Given the description of an element on the screen output the (x, y) to click on. 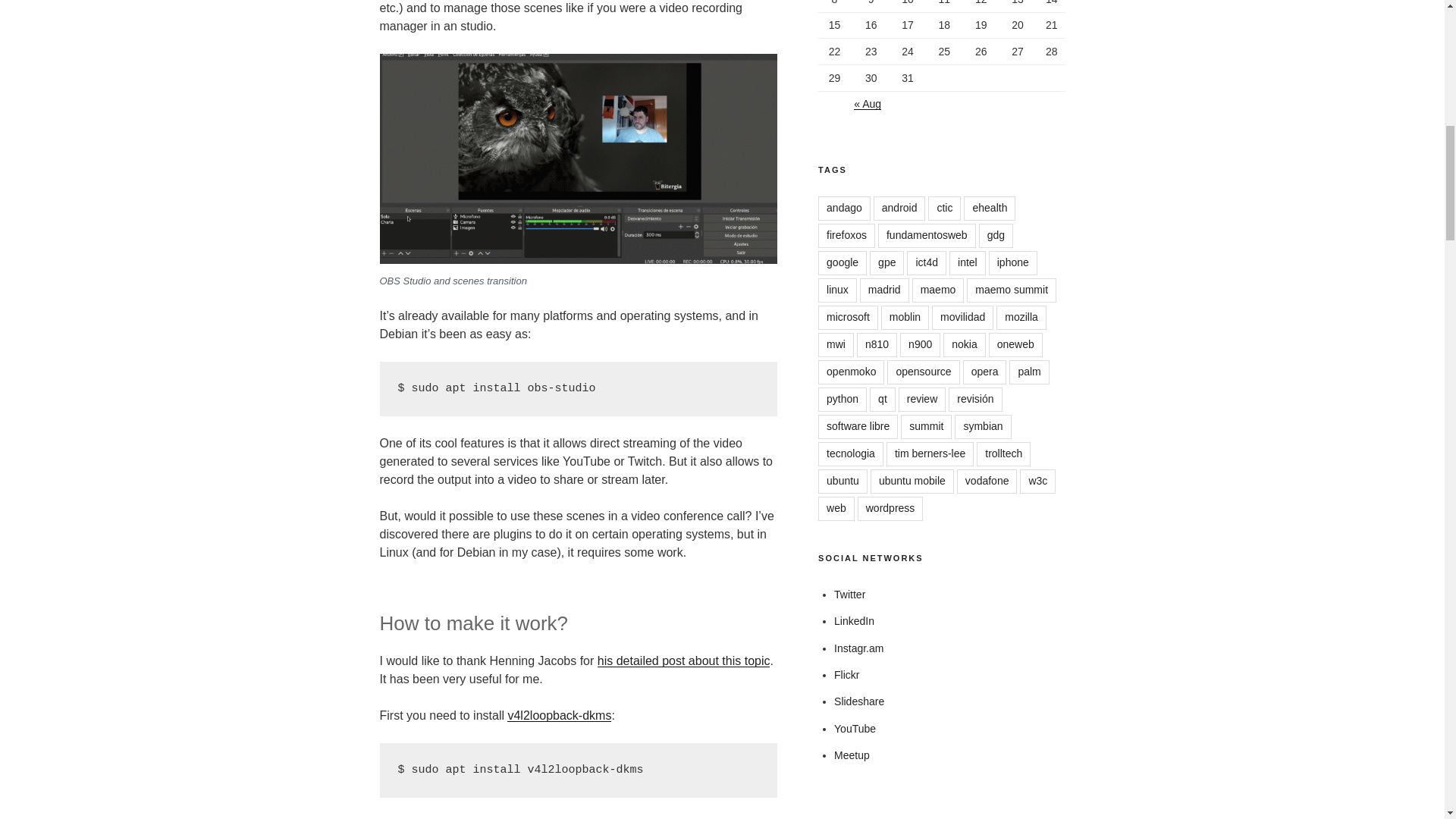
v4l2loopback-dkms (558, 715)
his detailed post about this topic (683, 660)
